Given the description of an element on the screen output the (x, y) to click on. 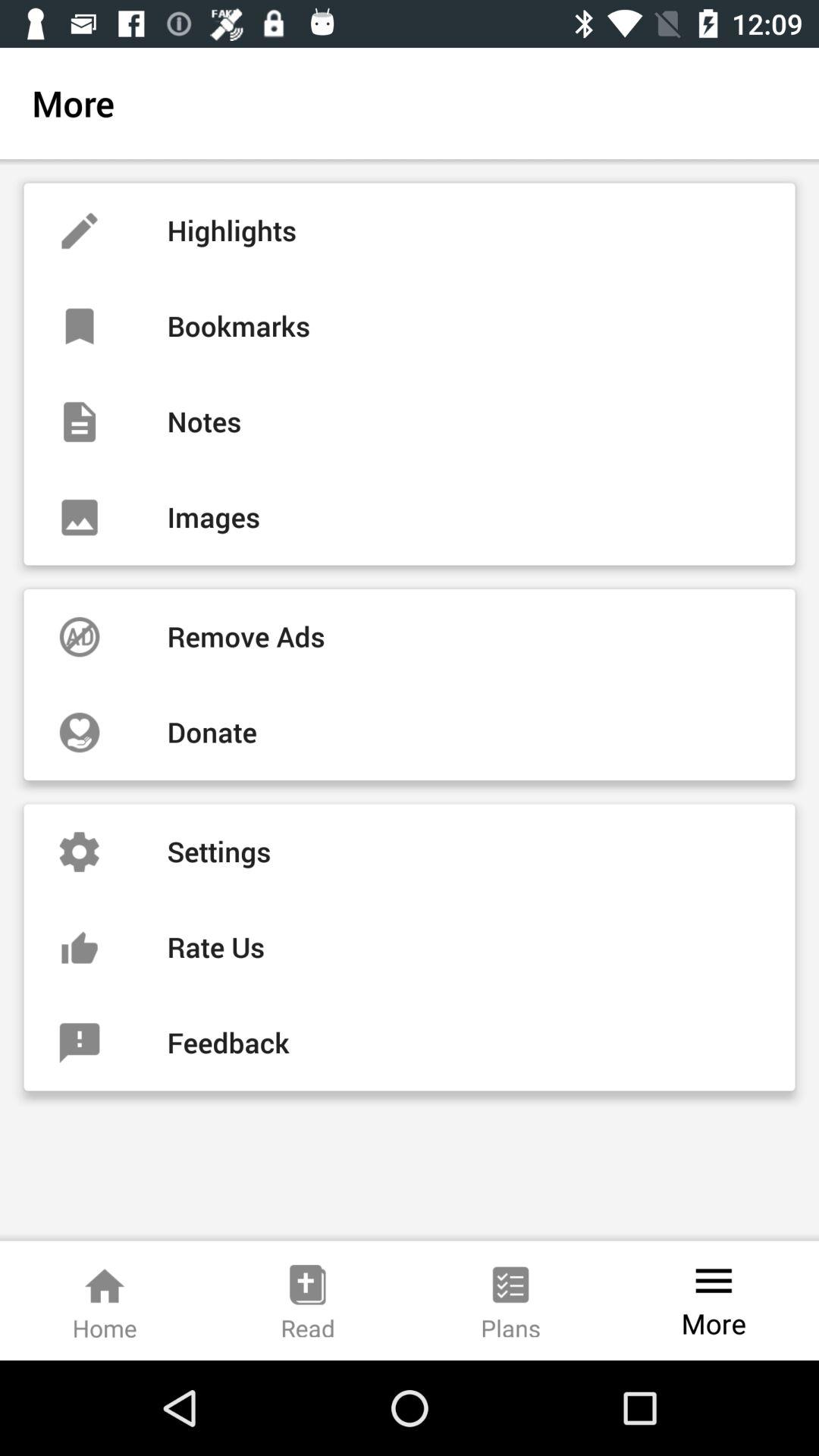
tap icon above the feedback item (409, 947)
